Given the description of an element on the screen output the (x, y) to click on. 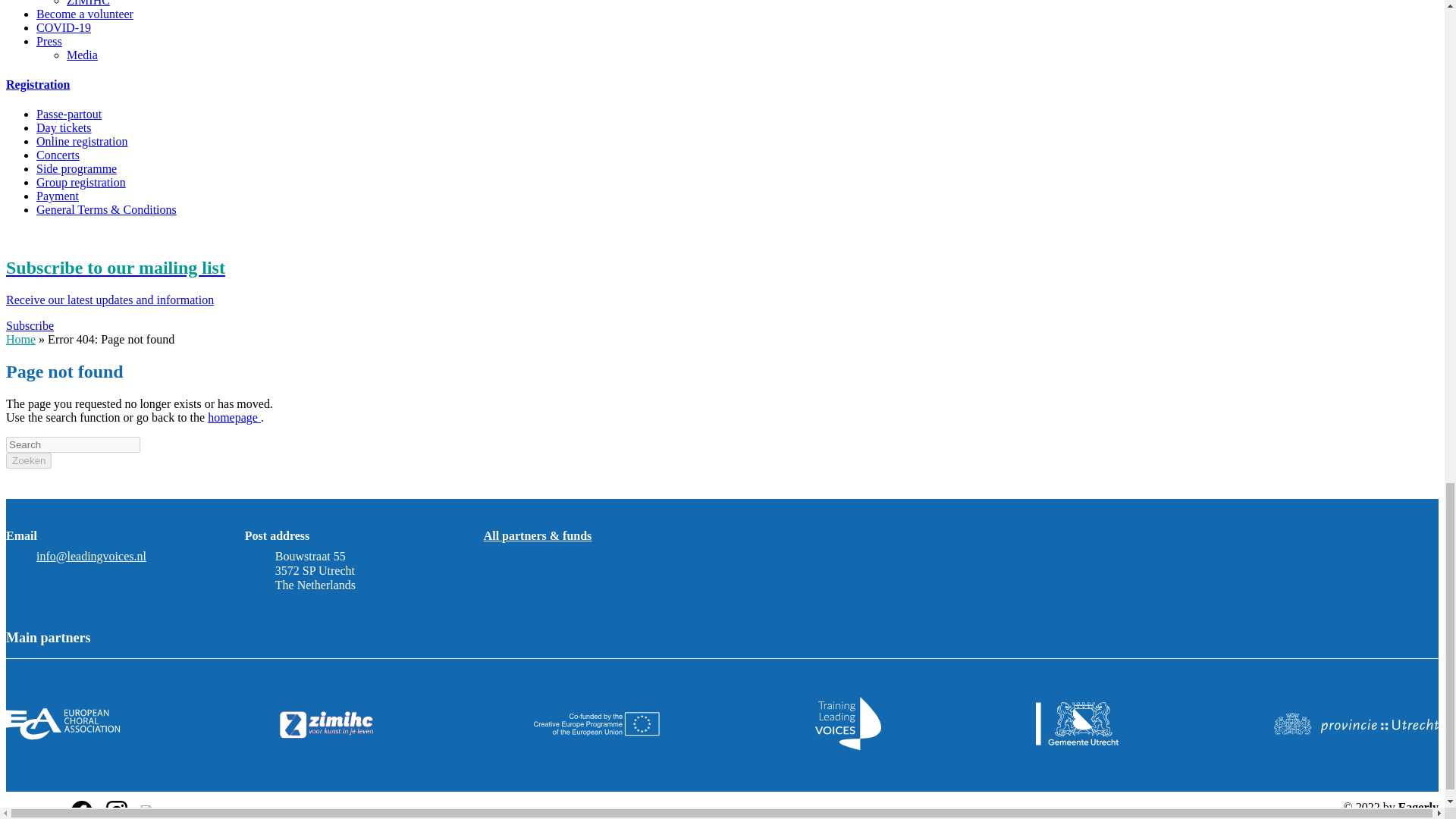
Mailing list (721, 294)
Eagerly (1417, 807)
Zoeken (27, 460)
Zoeken (27, 460)
